Given the description of an element on the screen output the (x, y) to click on. 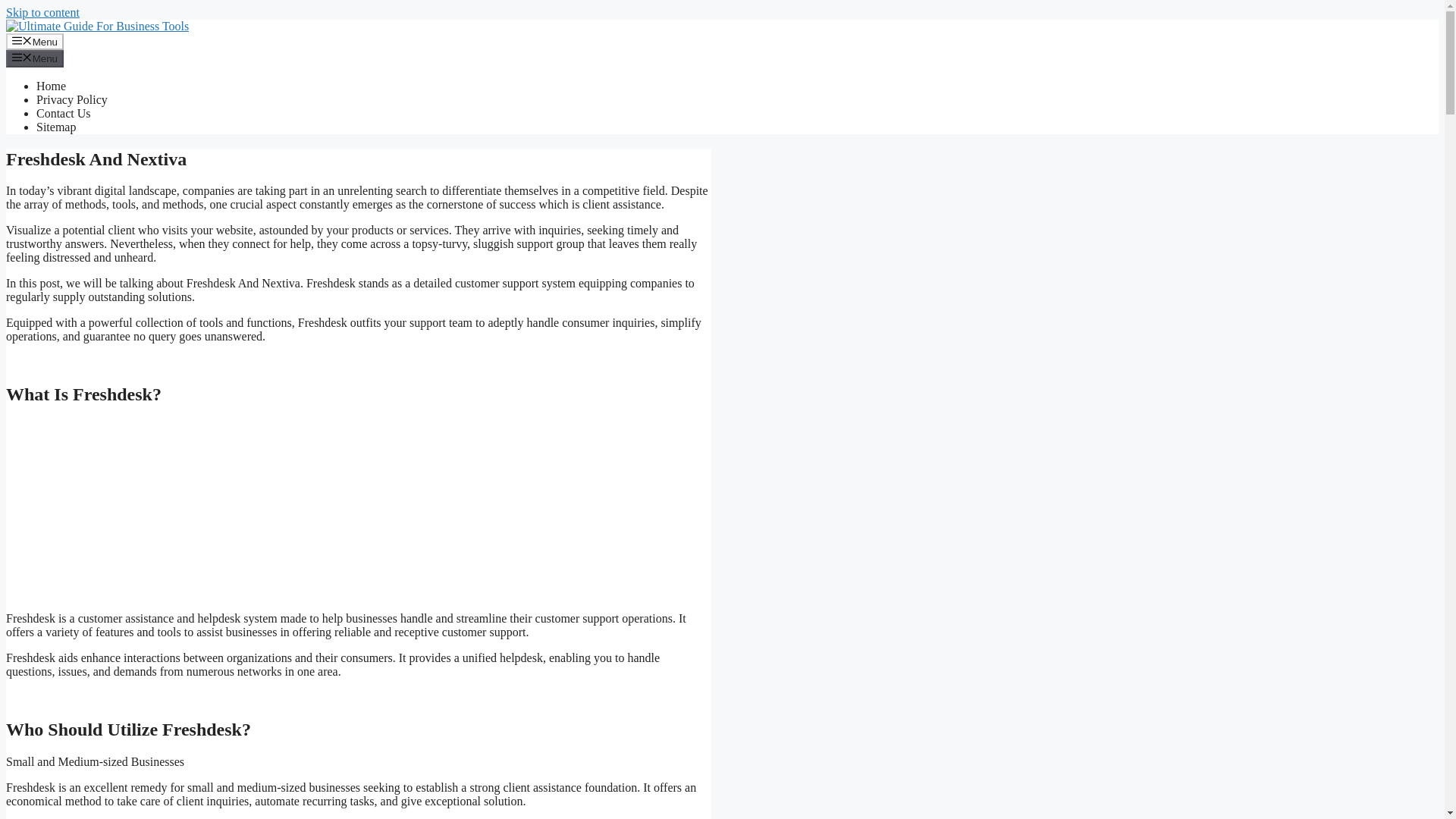
Home (50, 85)
Privacy Policy (71, 99)
Sitemap (55, 126)
Skip to content (42, 11)
Skip to content (42, 11)
Menu (34, 41)
Menu (34, 57)
Contact Us (63, 113)
